Given the description of an element on the screen output the (x, y) to click on. 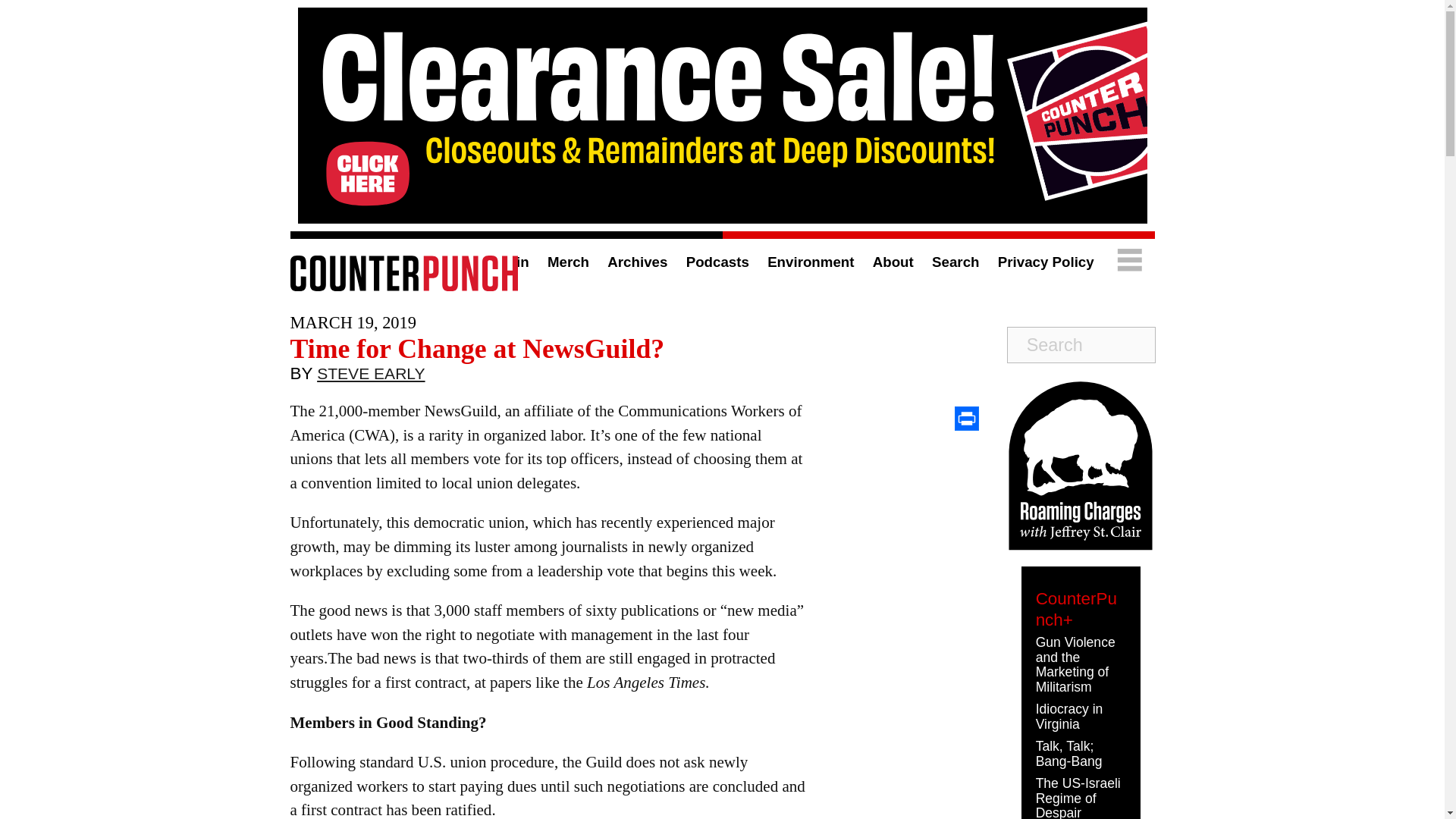
The US-Israeli Regime of Despair (1078, 797)
Login (509, 261)
Time for Change at NewsGuild? (476, 348)
About (893, 261)
Idiocracy in Virginia (1069, 716)
Archives (636, 261)
2019-03-19 (352, 322)
Privacy Policy (1045, 261)
STEVE EARLY (371, 376)
Podcasts (717, 261)
Search (954, 261)
Gun Violence and the Marketing of Militarism (1075, 664)
Talk, Talk; Bang-Bang (1068, 753)
Environment (810, 261)
Merch (568, 261)
